Given the description of an element on the screen output the (x, y) to click on. 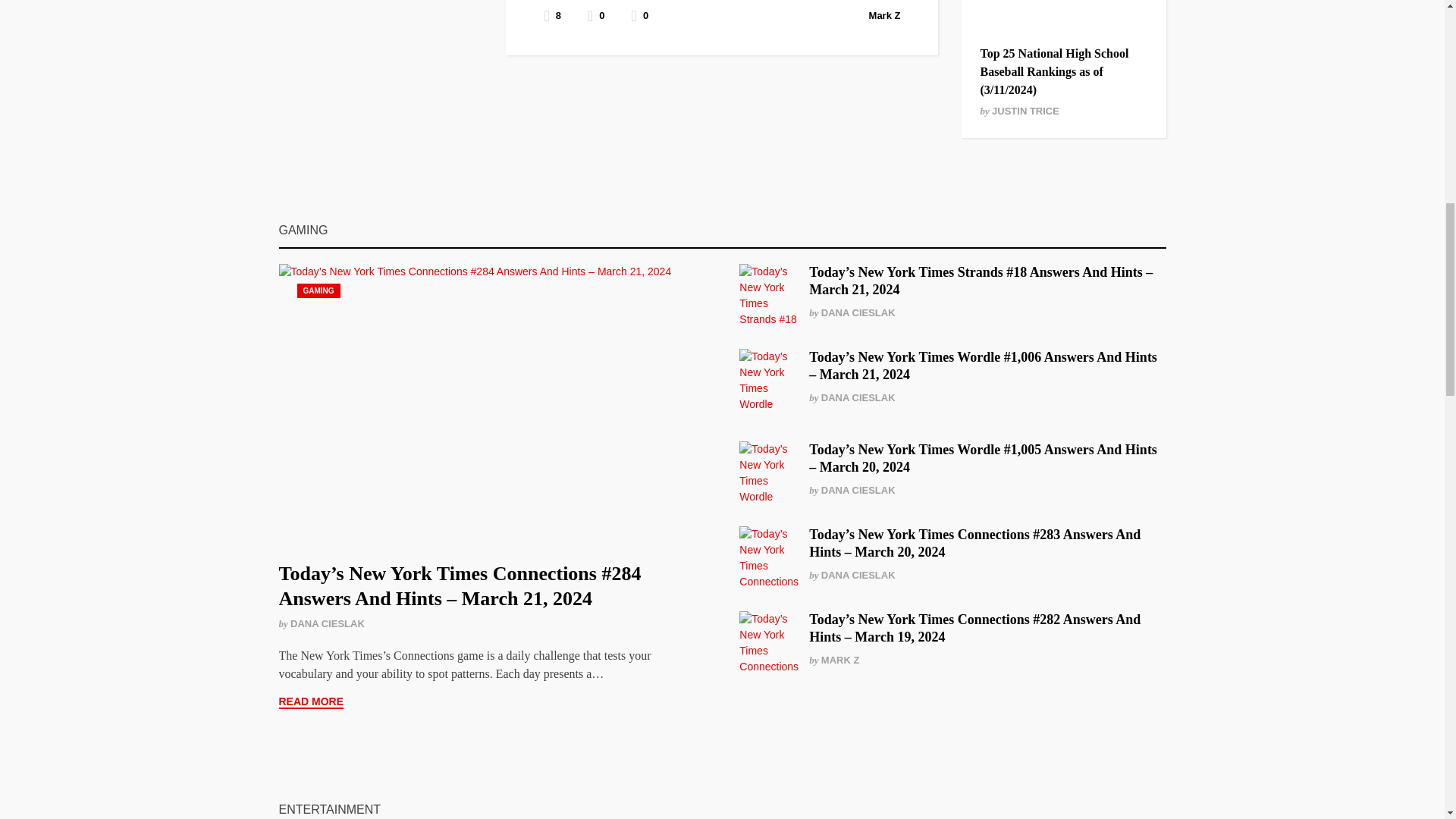
Mark Z (885, 15)
JUSTIN TRICE (1025, 111)
0 (640, 15)
DANA CIESLAK (327, 623)
READ MORE (311, 702)
Like this (640, 15)
GAMING (318, 290)
